Given the description of an element on the screen output the (x, y) to click on. 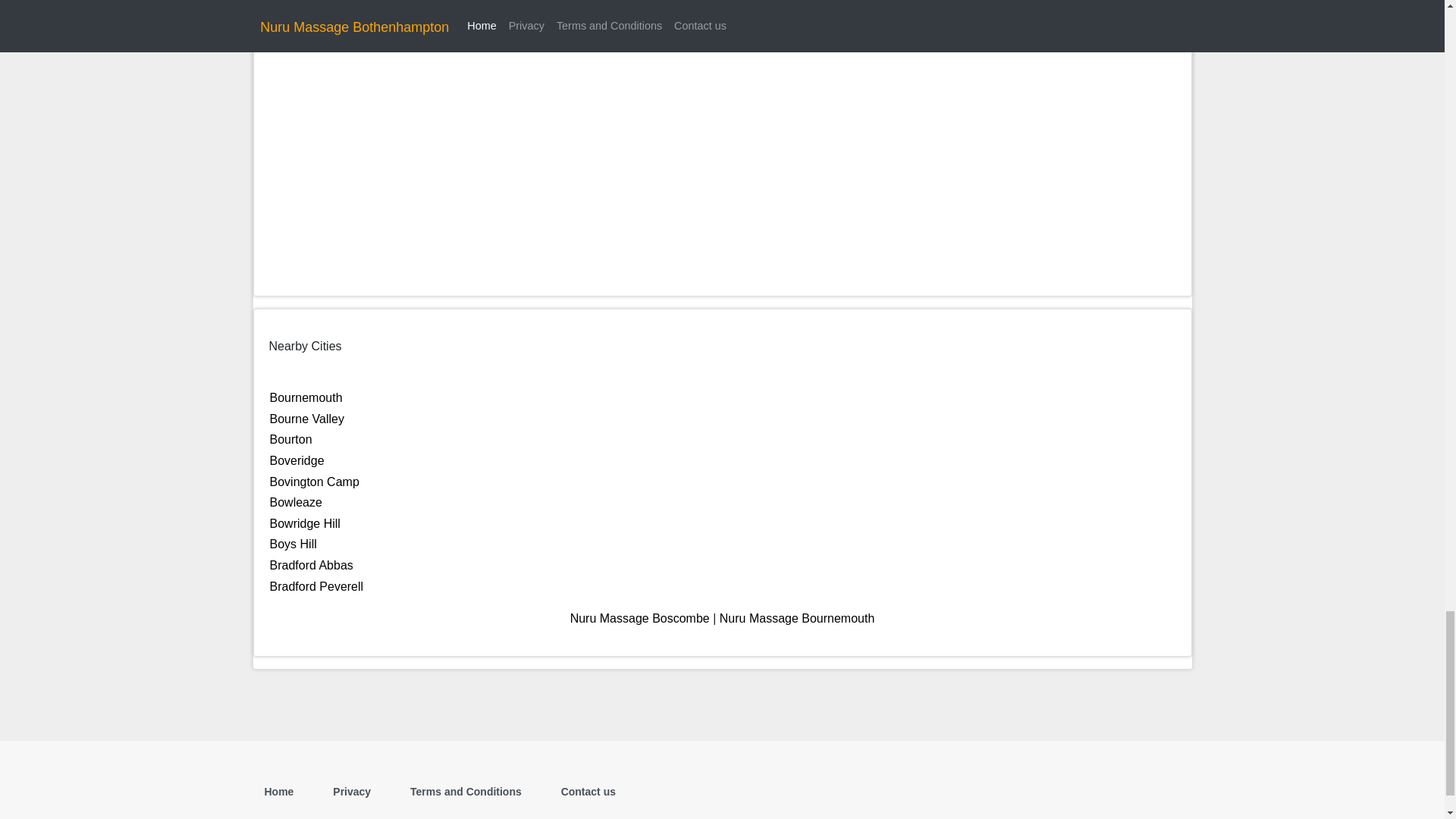
Boveridge (296, 460)
Bowridge Hill (304, 522)
Bourne Valley (306, 418)
Bowleaze (295, 502)
Bovington Camp (314, 481)
Bourton (291, 439)
Nuru Massage Boscombe (640, 617)
Bradford Peverell (316, 585)
Nuru Massage Bournemouth (797, 617)
Bradford Abbas (311, 564)
